Given the description of an element on the screen output the (x, y) to click on. 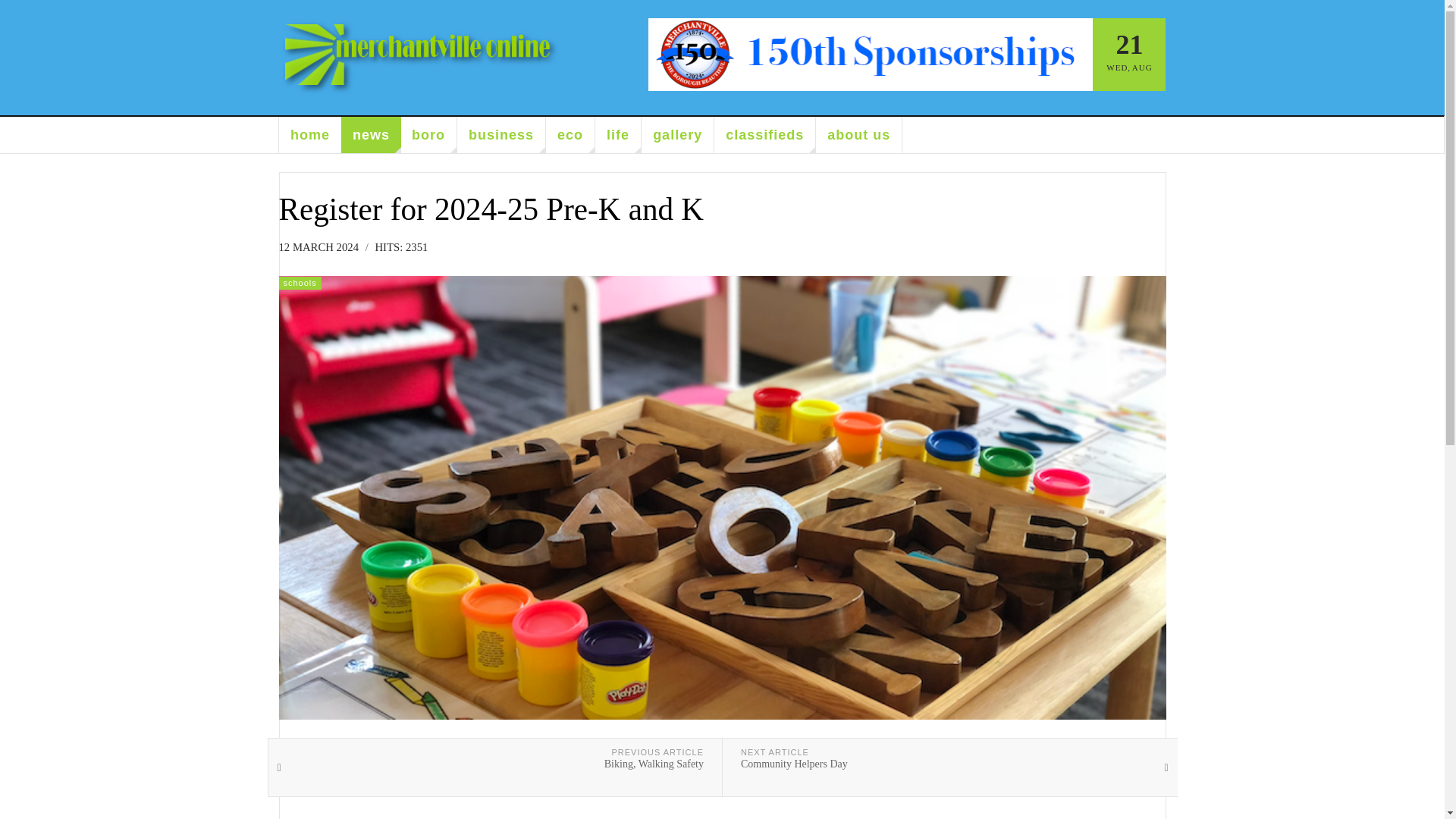
Published:  (323, 247)
Category:  (300, 282)
Merchantville Online (420, 57)
150th Sponsorship Banner Ad (870, 54)
